Given the description of an element on the screen output the (x, y) to click on. 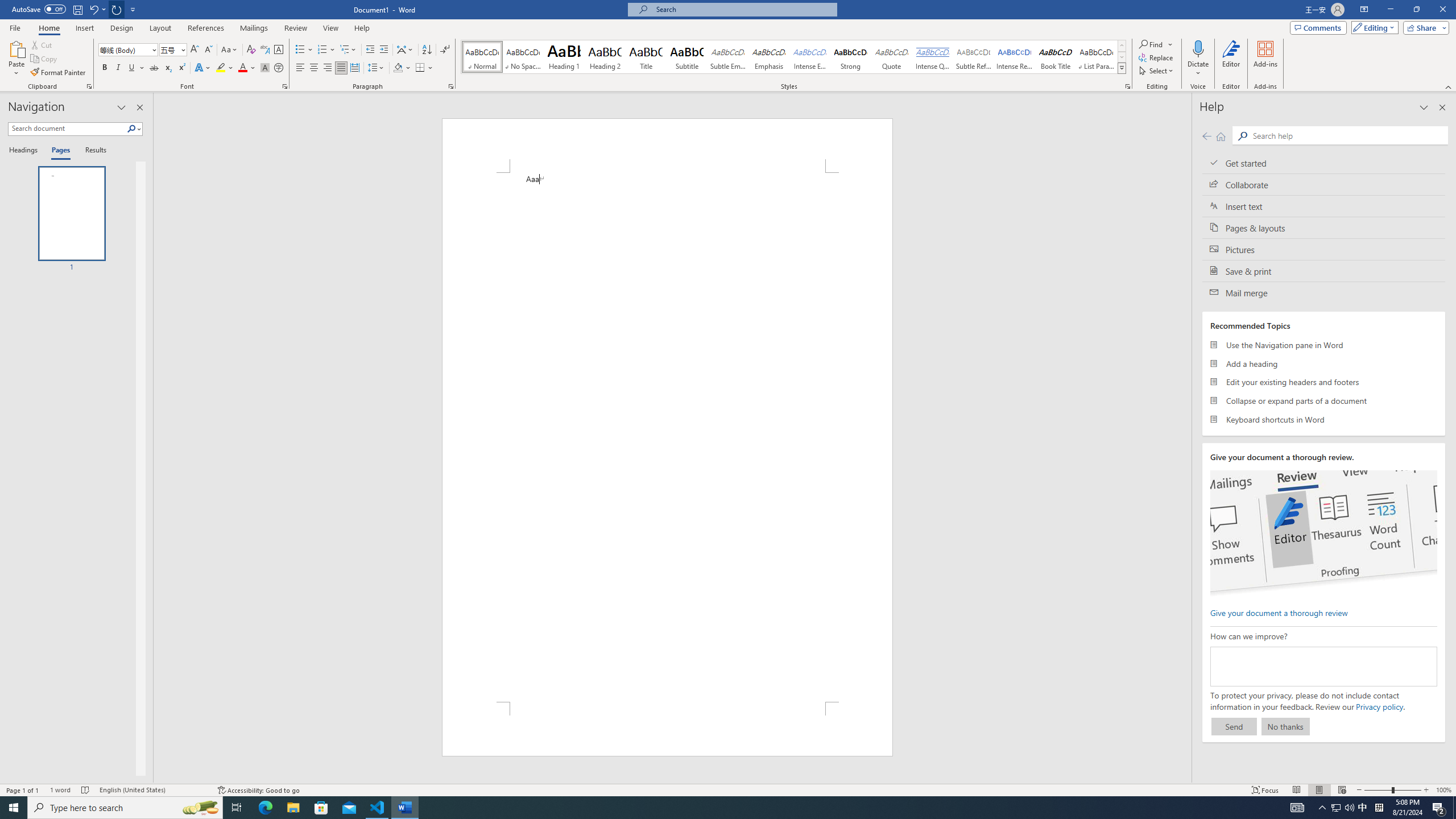
Quote (891, 56)
Heading 2 (605, 56)
Insert text (1323, 206)
